Given the description of an element on the screen output the (x, y) to click on. 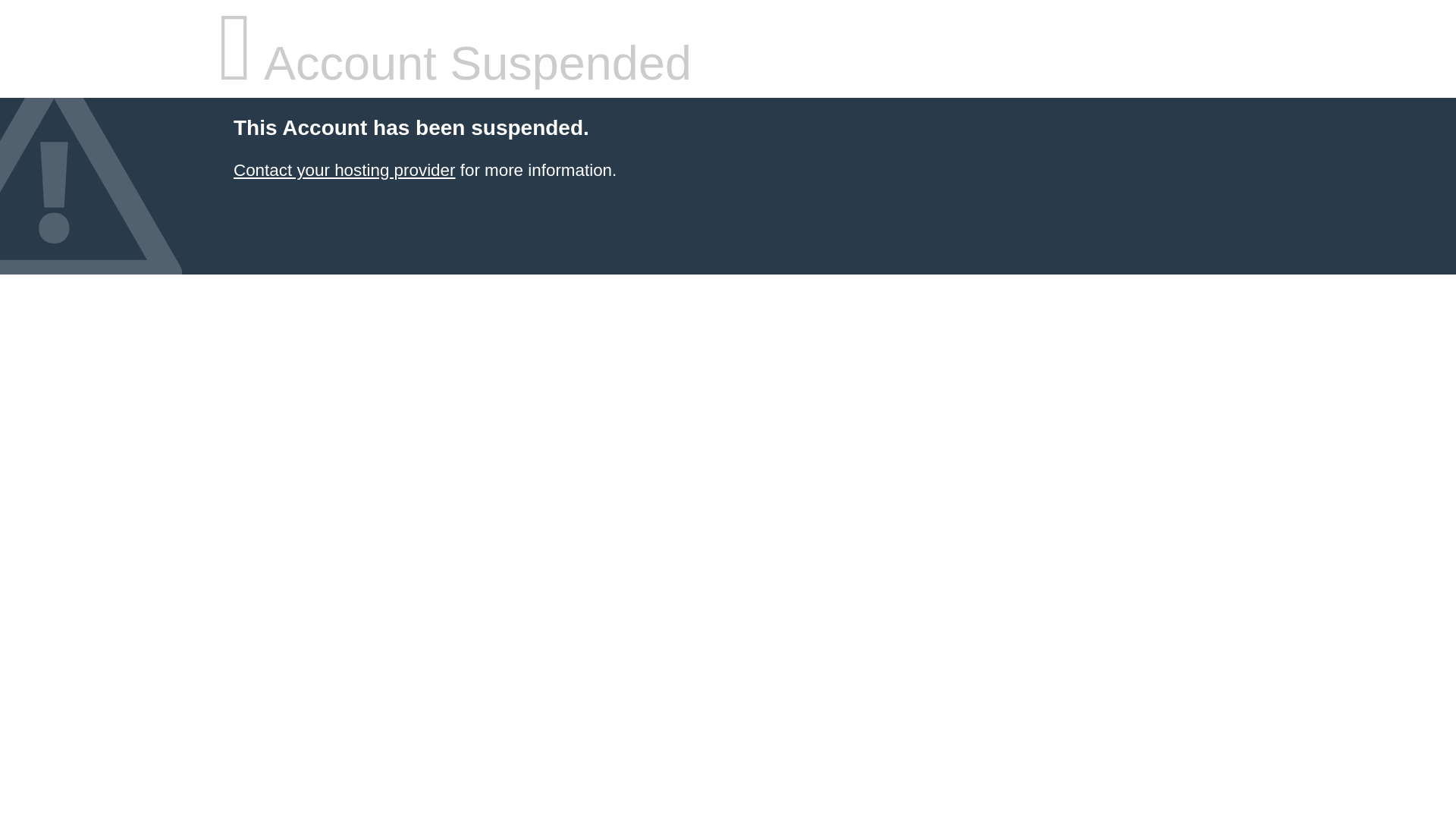
Contact your hosting provider (343, 169)
